Given the description of an element on the screen output the (x, y) to click on. 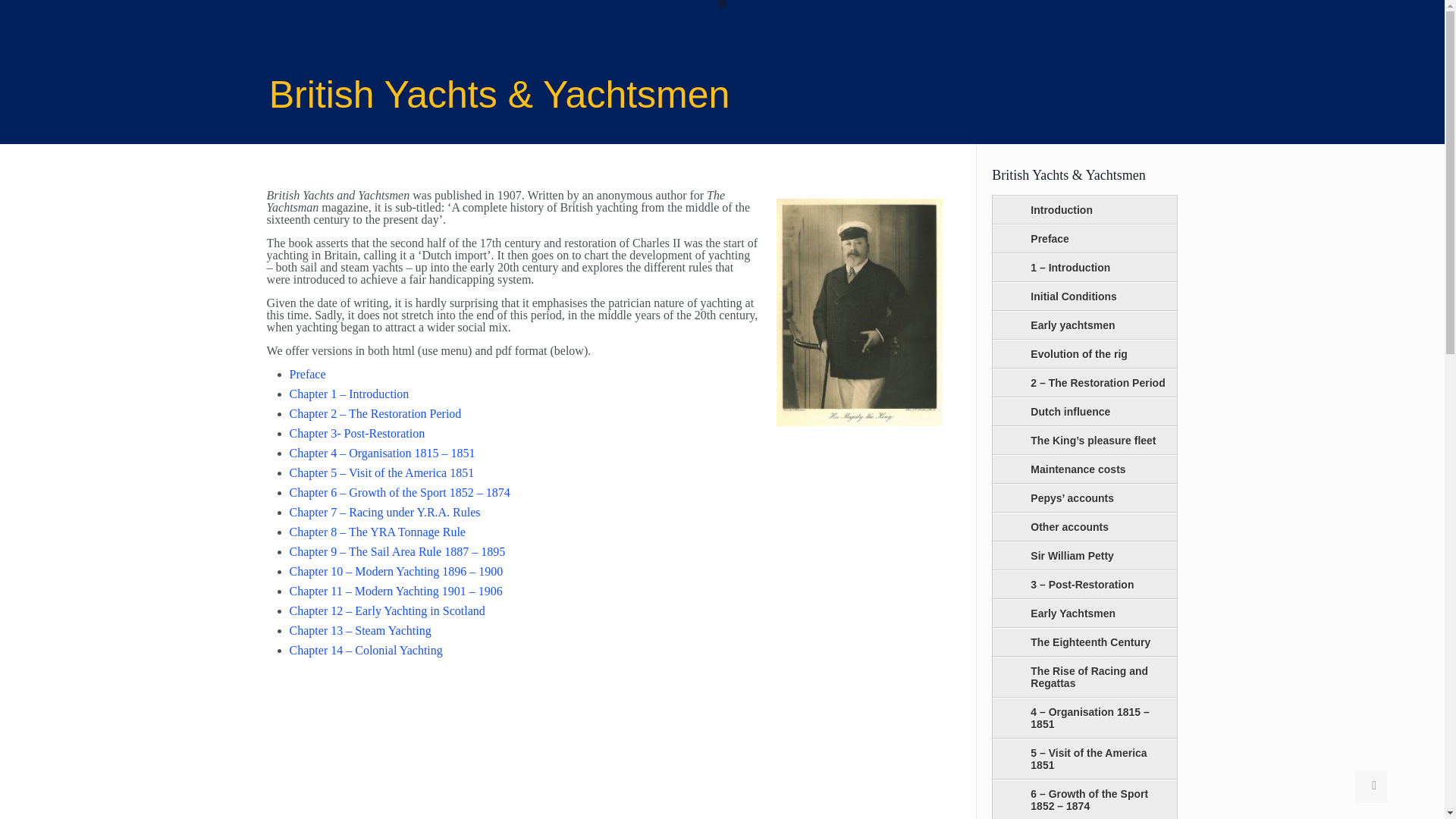
Preface (307, 373)
